Given the description of an element on the screen output the (x, y) to click on. 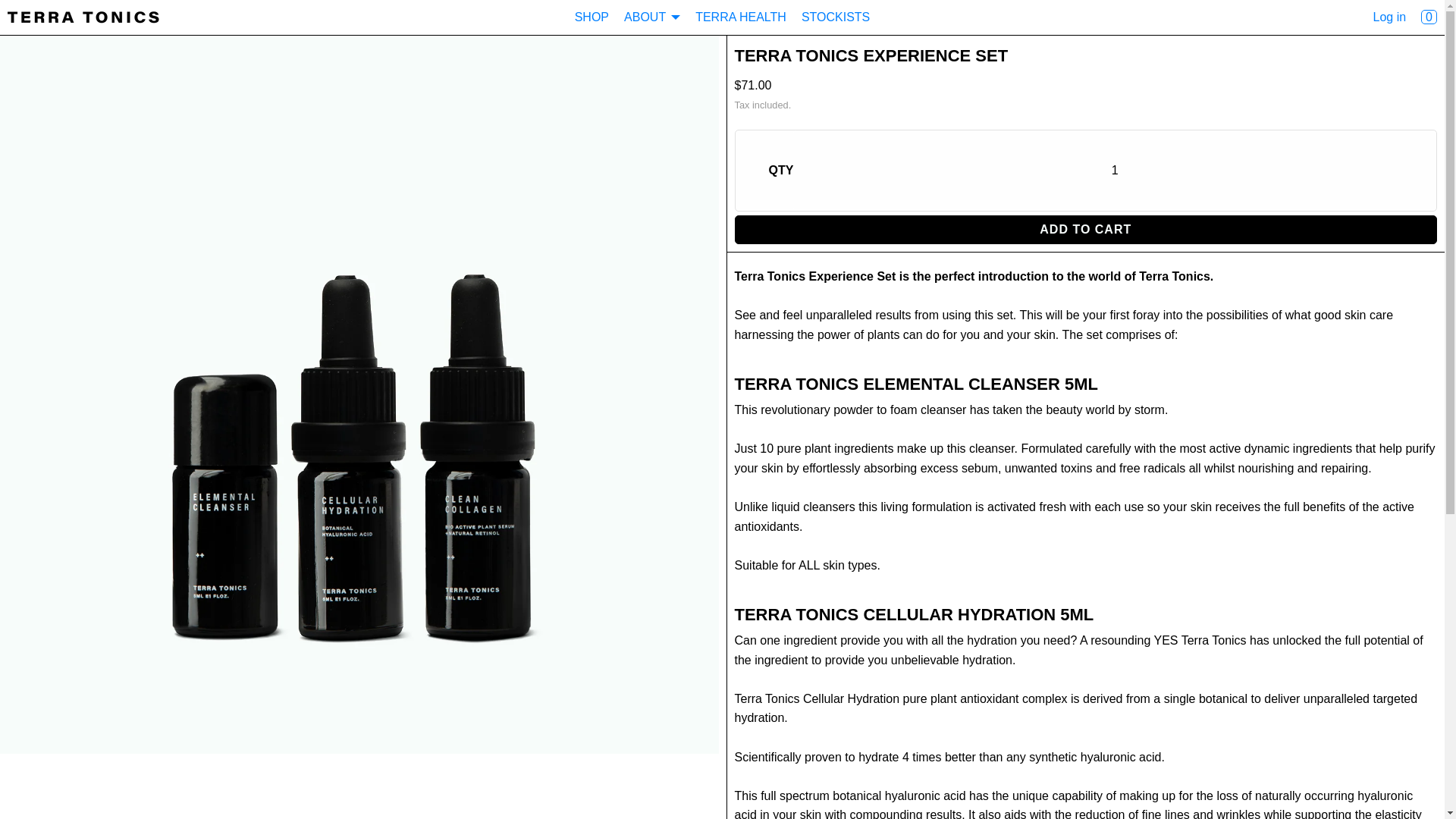
SHOP (591, 17)
Log in (1389, 17)
TERRA HEALTH (740, 17)
STOCKISTS (835, 17)
ADD TO CART (1085, 229)
1 (1114, 170)
